Given the description of an element on the screen output the (x, y) to click on. 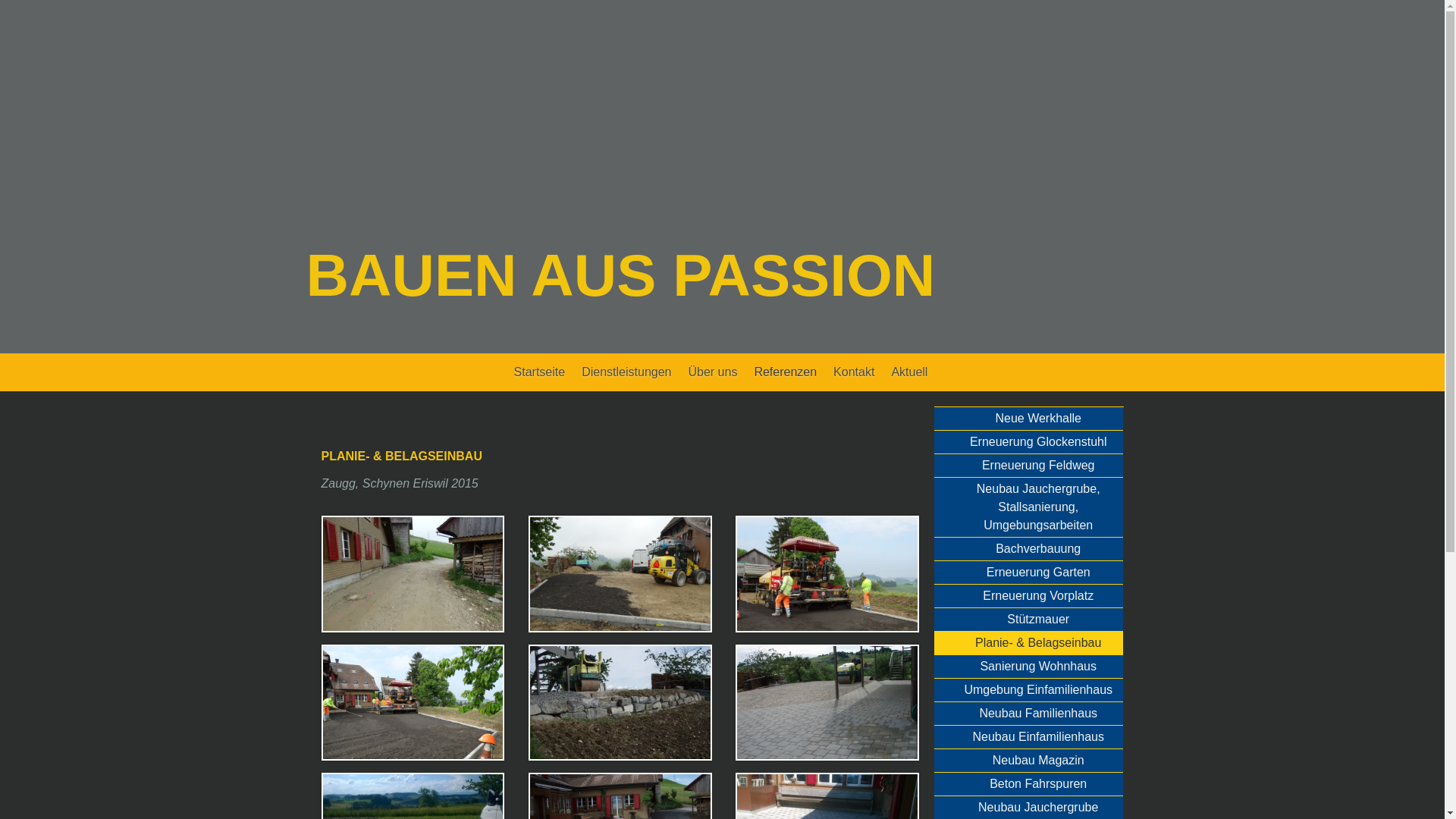
Neubau Einfamilienhaus Element type: text (1028, 737)
Beton Fahrspuren Element type: text (1028, 784)
Kontakt Element type: text (853, 372)
Aktuell Element type: text (909, 372)
Referenzen Element type: text (784, 372)
Startseite Element type: text (539, 372)
Umgebung Einfamilienhaus Element type: text (1028, 690)
Neue Werkhalle Element type: text (1028, 418)
Neubau Familienhaus Element type: text (1028, 713)
Planie- & Belagseinbau Element type: text (1028, 643)
Erneuerung Glockenstuhl Element type: text (1028, 442)
Erneuerung Vorplatz Element type: text (1028, 596)
Neubau Magazin Element type: text (1028, 760)
Erneuerung Feldweg Element type: text (1028, 465)
Bachverbauung Element type: text (1028, 549)
Neubau Jauchergrube, Stallsanierung, Umgebungsarbeiten Element type: text (1028, 507)
Sanierung Wohnhaus Element type: text (1028, 666)
Erneuerung Garten Element type: text (1028, 572)
Dienstleistungen Element type: text (625, 372)
